Given the description of an element on the screen output the (x, y) to click on. 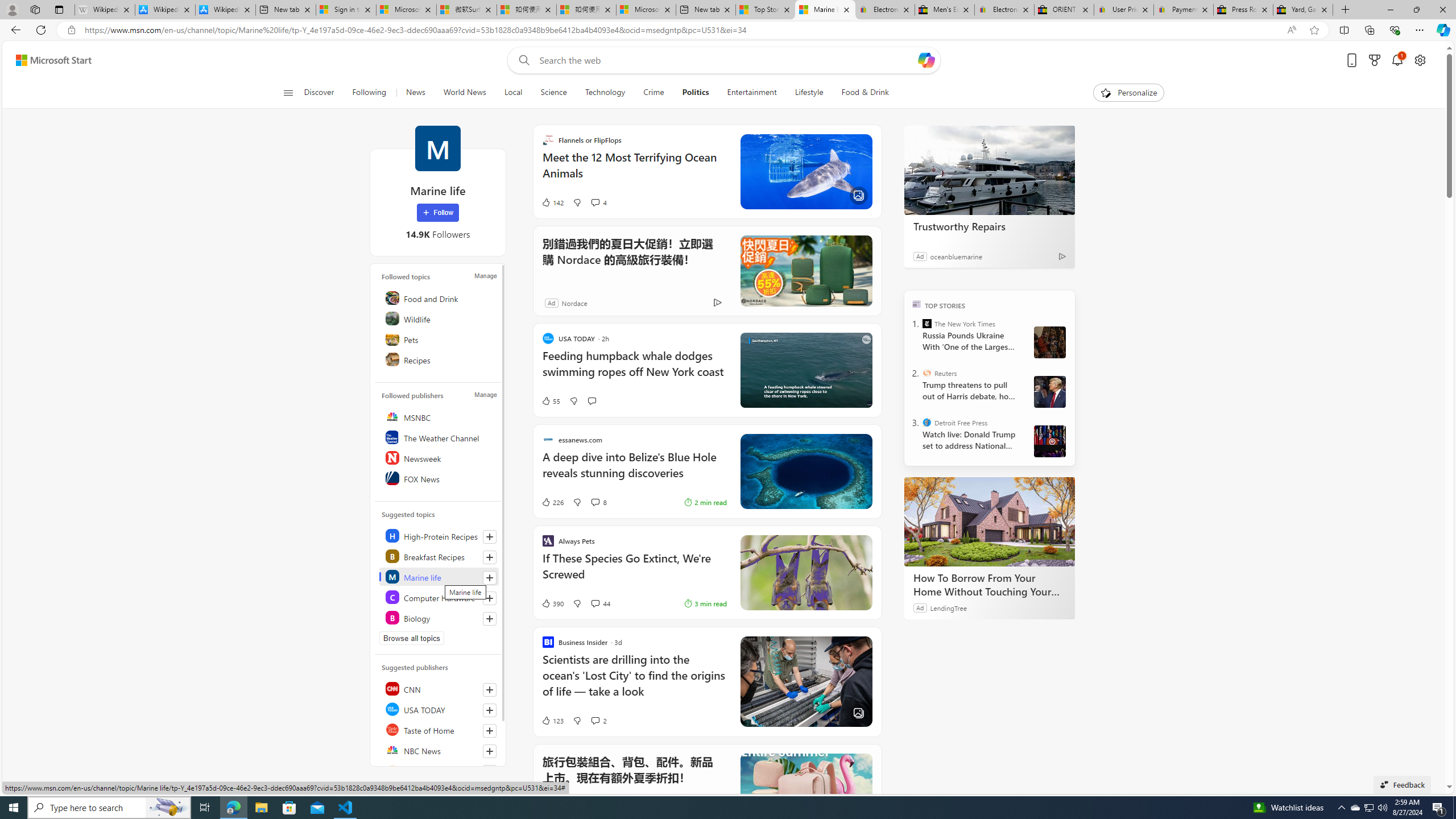
FOX News (439, 478)
Detroit Free Press (927, 422)
Follow (437, 212)
Pets (439, 339)
